Given the description of an element on the screen output the (x, y) to click on. 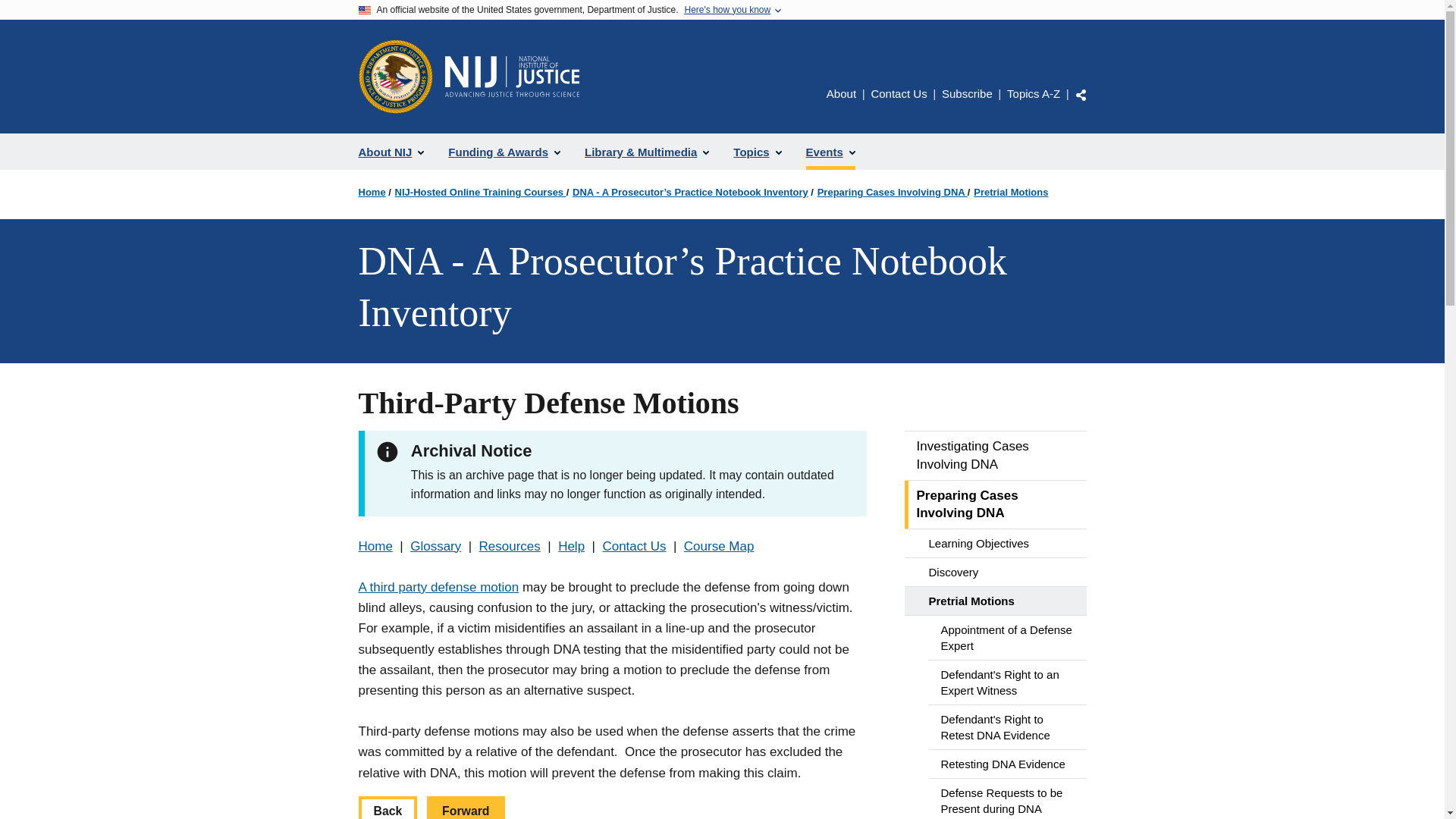
Preparing Cases Involving DNA (995, 504)
Topics (756, 151)
Home (374, 545)
Investigating Cases Involving DNA (995, 455)
Events (830, 151)
Topics A-Z (1033, 93)
Choose a social sharing platform (1080, 94)
Subscribe (967, 93)
Contact Us (898, 93)
Preparing Cases Involving DNA (892, 192)
